Given the description of an element on the screen output the (x, y) to click on. 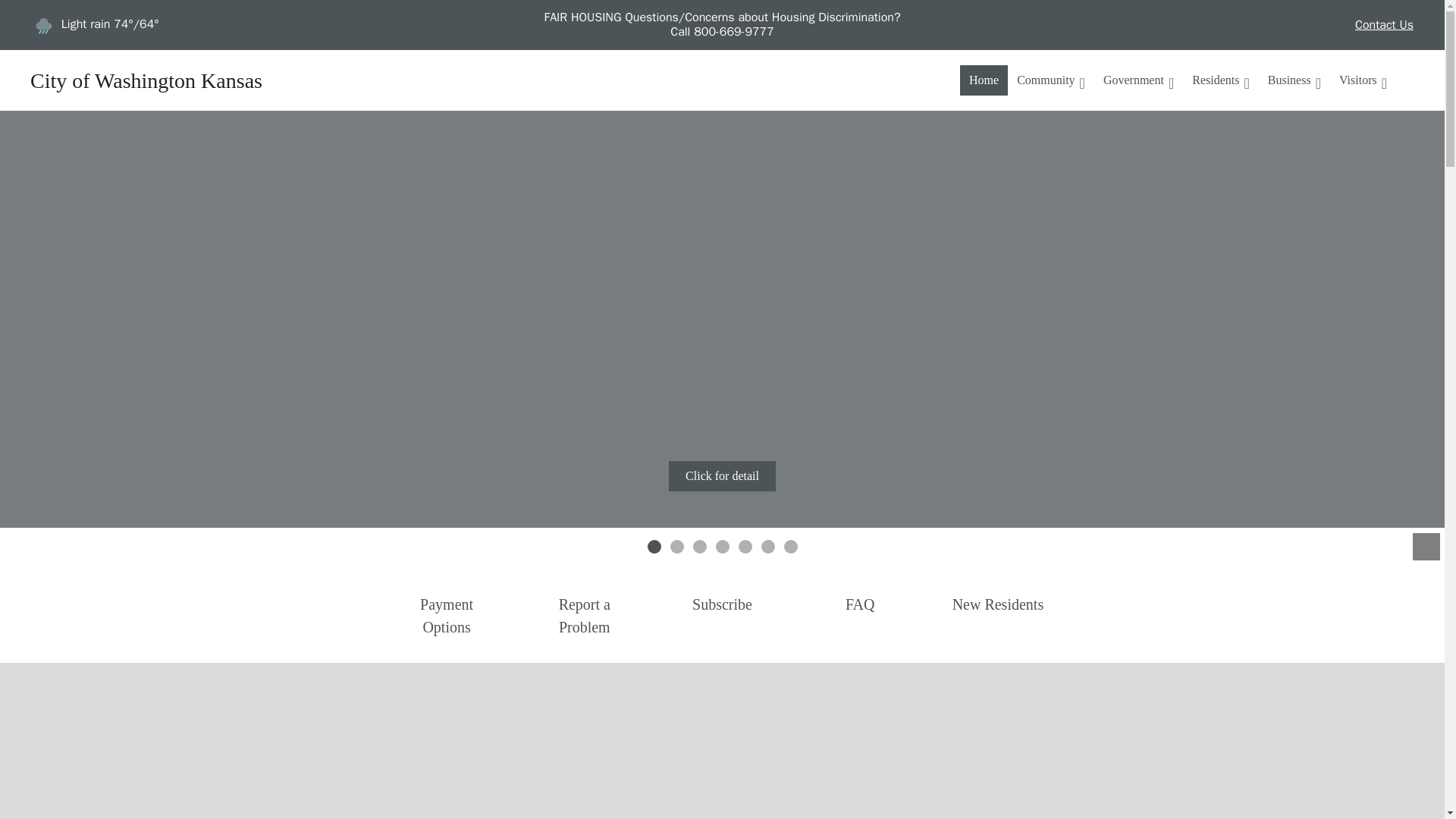
Contact Us (1383, 25)
Community (1050, 80)
Home (983, 80)
Government (1138, 80)
City of Washington Kansas (146, 80)
